Given the description of an element on the screen output the (x, y) to click on. 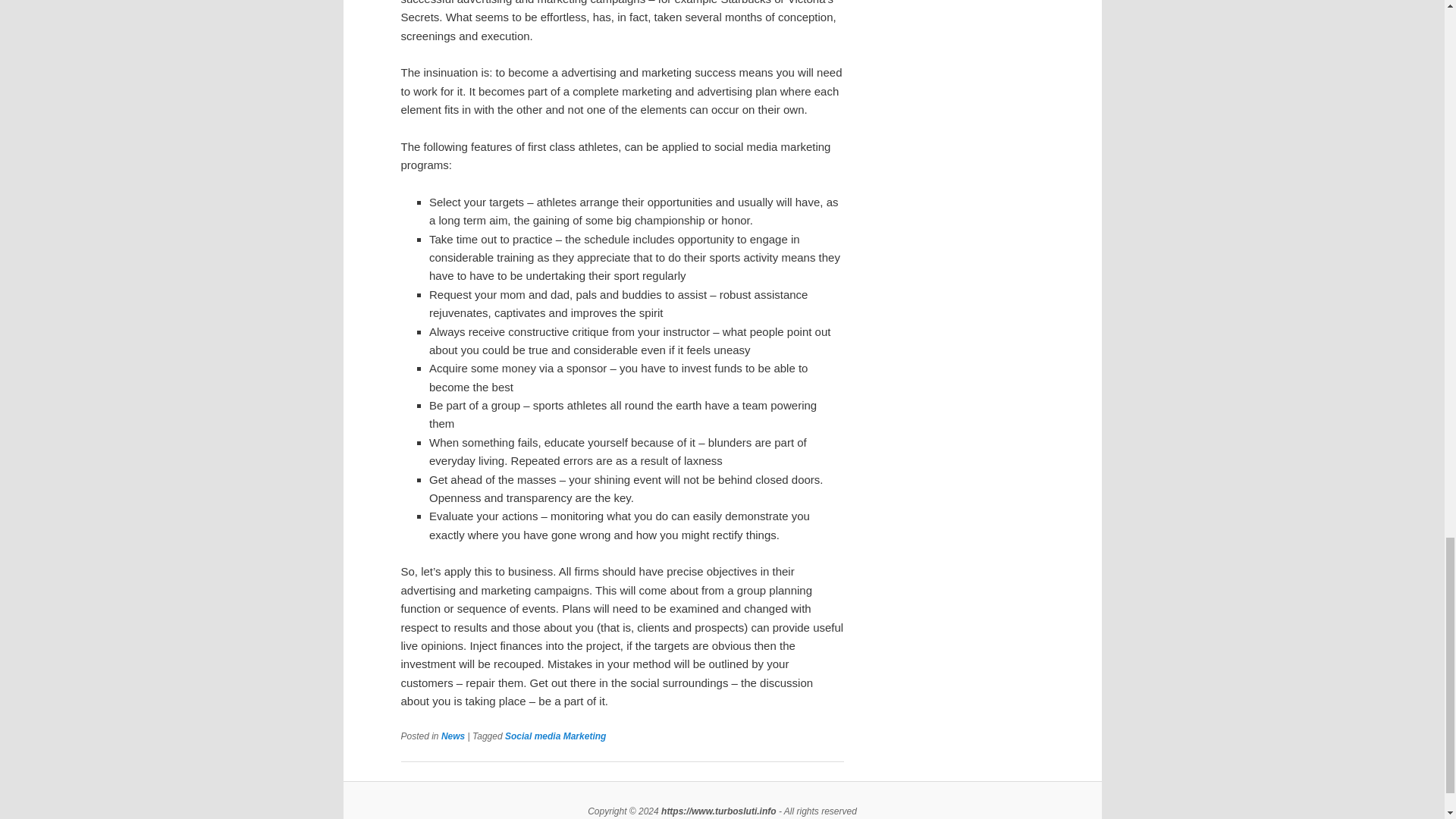
Social media Marketing (555, 736)
News (452, 736)
